Given the description of an element on the screen output the (x, y) to click on. 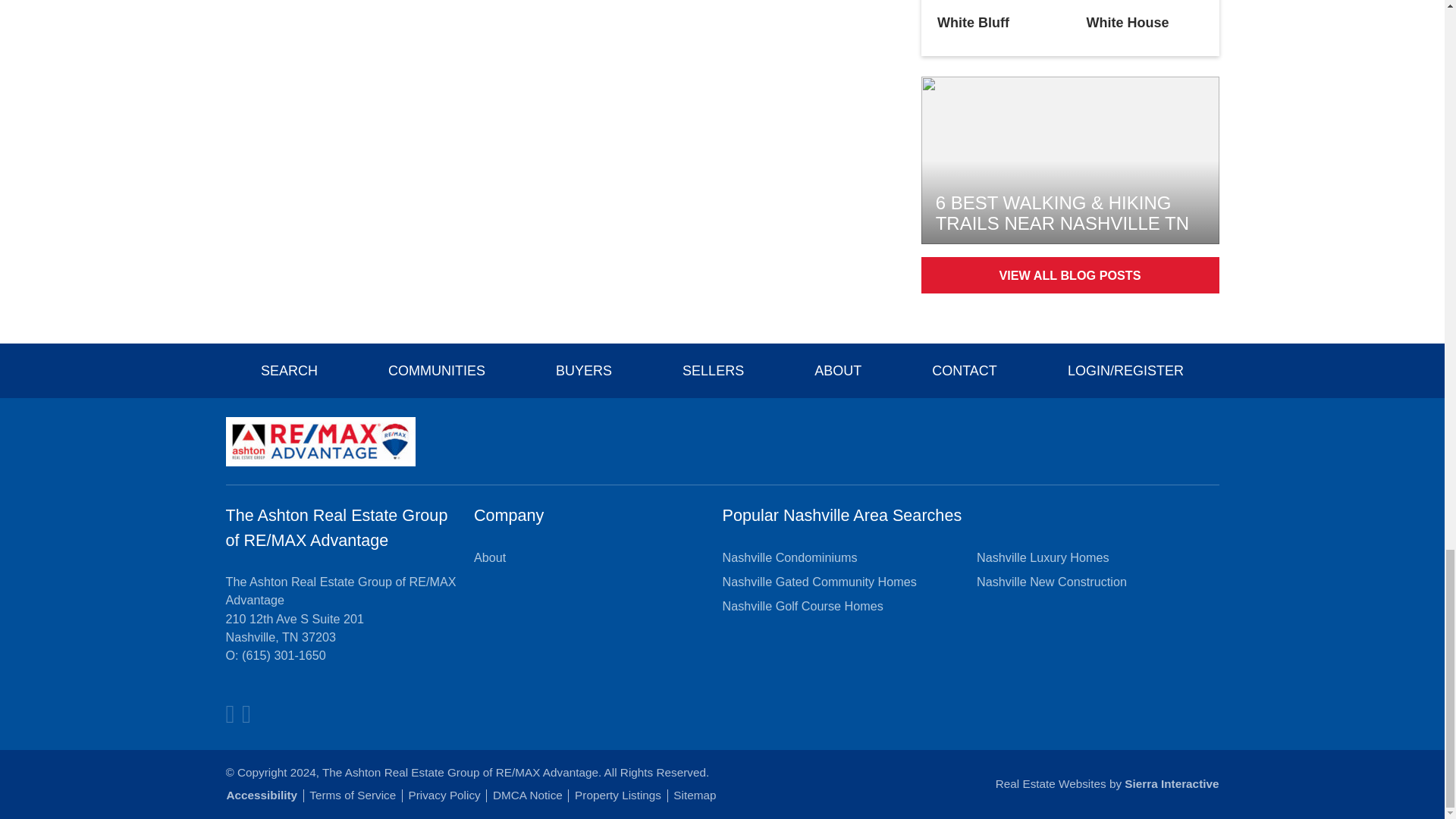
View Nashville Condominiums (789, 556)
View Nashville Gated Community Homes (818, 581)
Home Page (319, 440)
View About (489, 556)
